Given the description of an element on the screen output the (x, y) to click on. 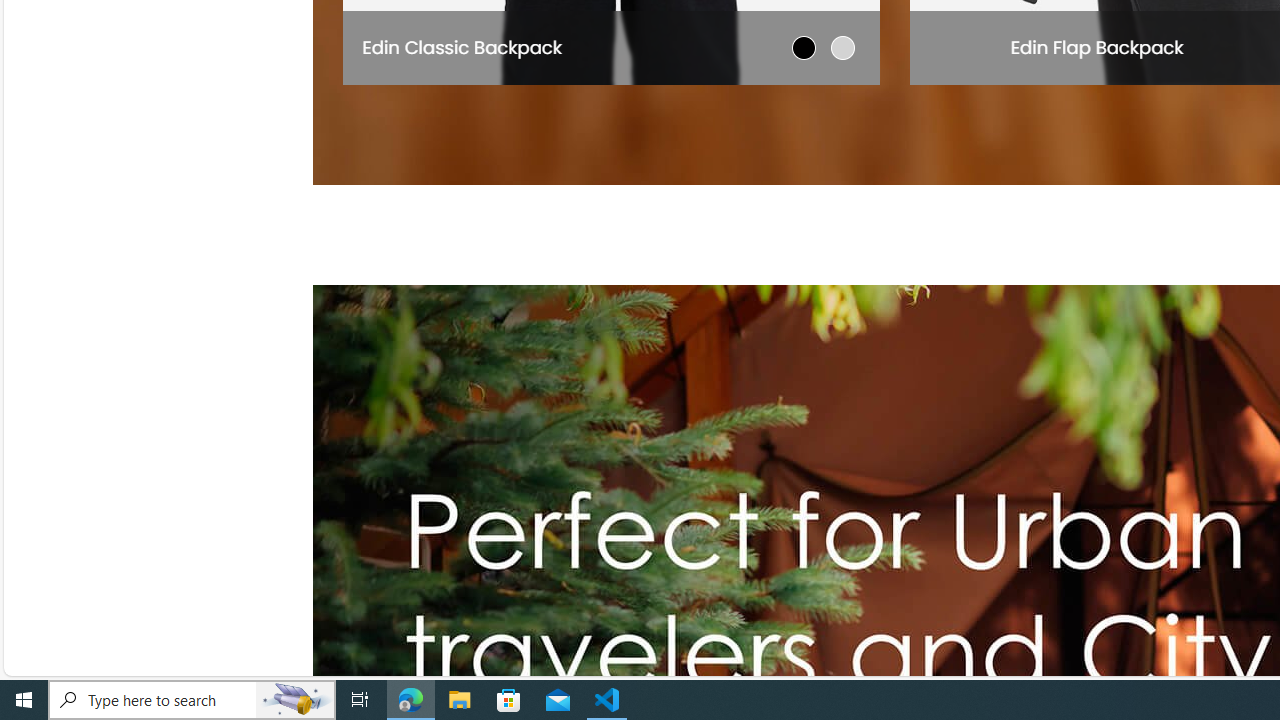
Black (804, 47)
Light Gray (842, 47)
Edin Classic Backpack (462, 46)
